Given the description of an element on the screen output the (x, y) to click on. 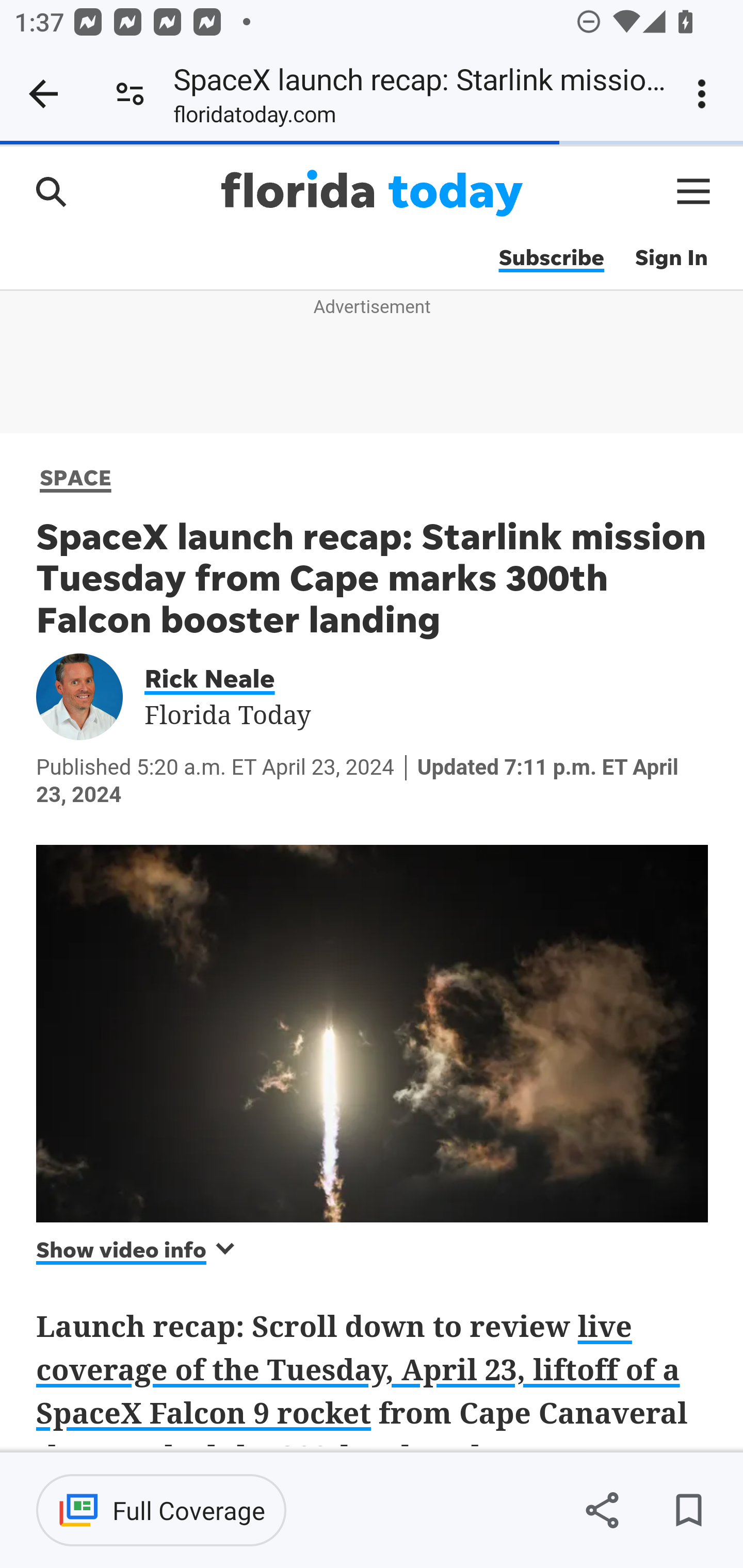
Close tab (43, 93)
Customize and control Google Chrome (705, 93)
Connection is secure (129, 93)
floridatoday.com (254, 117)
Florida Today (371, 193)
Search (50, 191)
Global Navigation (693, 191)
Subscribe (550, 257)
Sign In (671, 257)
SPACE (75, 476)
Rick Neale (222, 677)
Show video info (137, 1249)
Full Coverage (161, 1509)
Share (601, 1510)
Save for later (688, 1510)
